Given the description of an element on the screen output the (x, y) to click on. 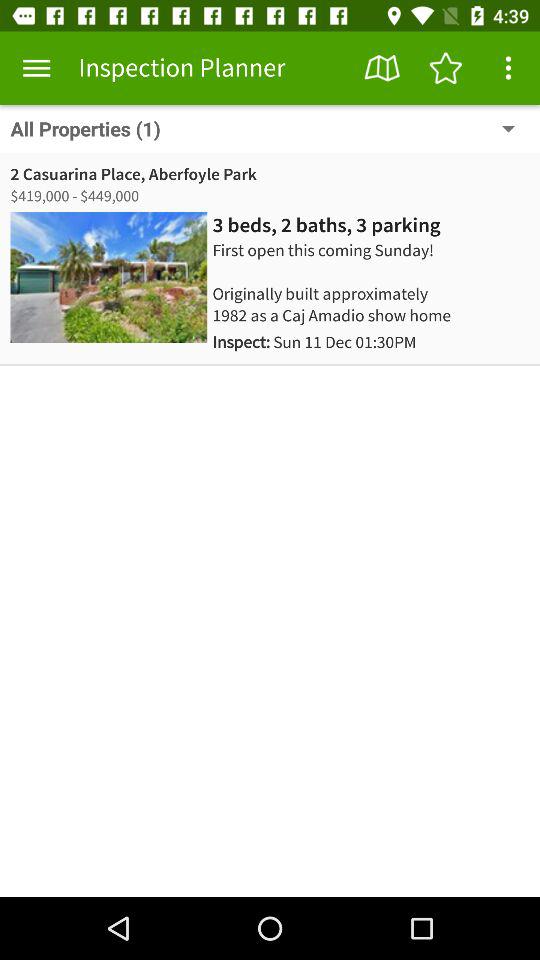
open the icon below 419 000 449 (108, 277)
